Given the description of an element on the screen output the (x, y) to click on. 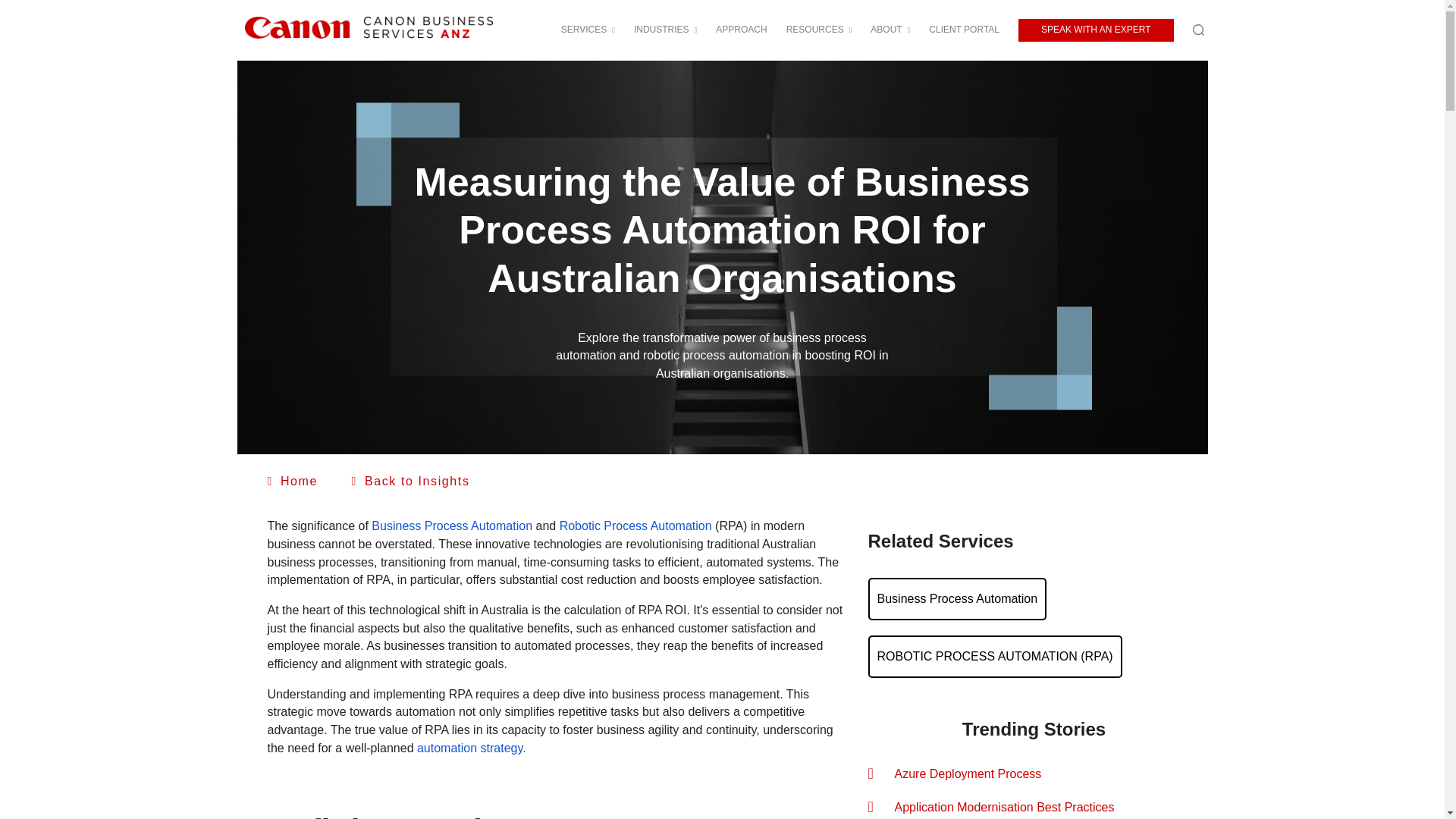
SERVICES (587, 30)
